Given the description of an element on the screen output the (x, y) to click on. 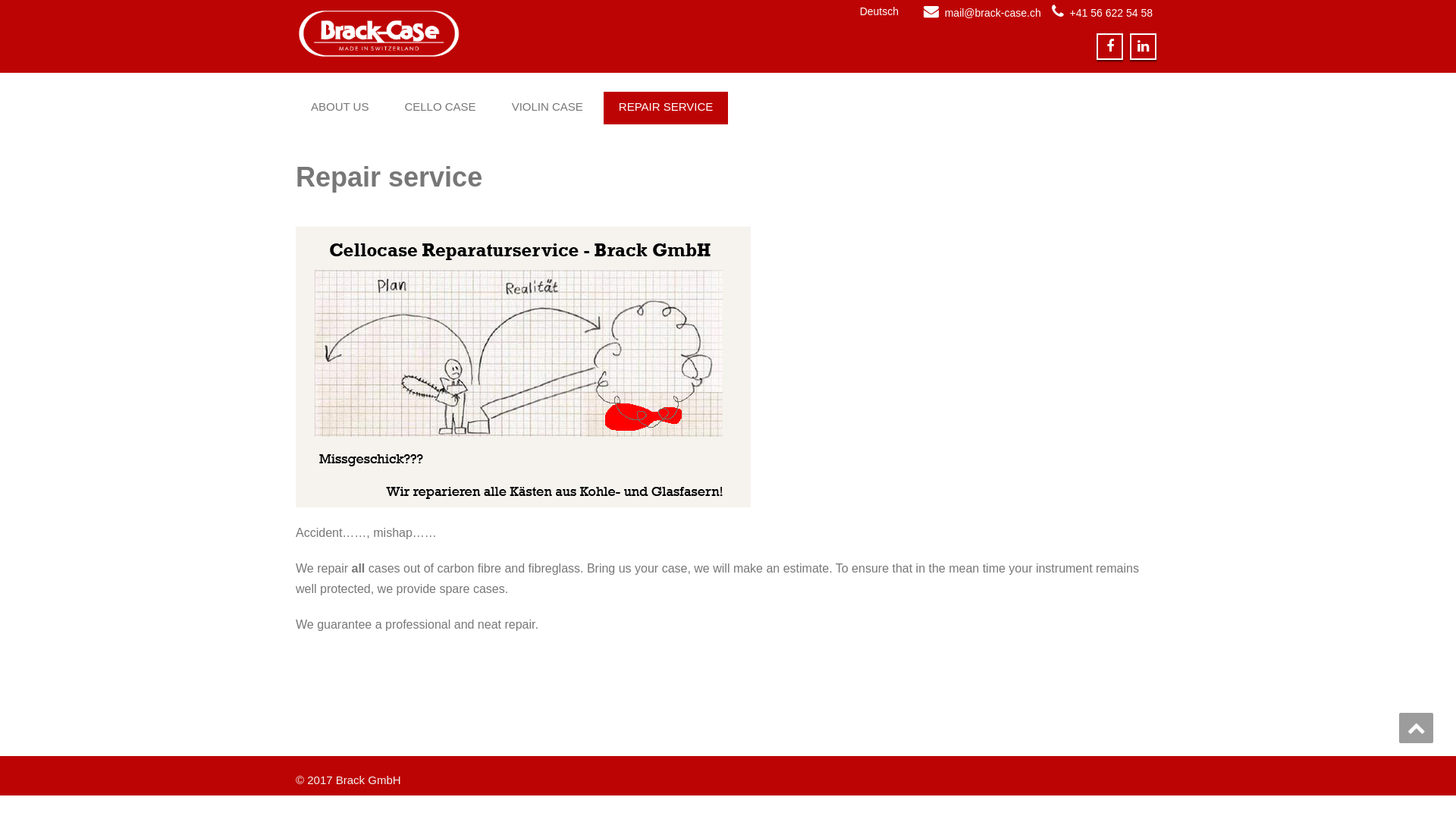
Deutsch Element type: text (839, 10)
mail@brack-case.ch Element type: text (992, 12)
+41 56 622 54 58 Element type: text (1111, 12)
CELLO CASE Element type: text (439, 106)
REPAIR SERVICE Element type: text (665, 106)
ABOUT US Element type: text (339, 106)
Go Top Element type: hover (1416, 727)
Brack Canoe Element type: hover (505, 33)
VIOLIN CASE Element type: text (547, 106)
